Given the description of an element on the screen output the (x, y) to click on. 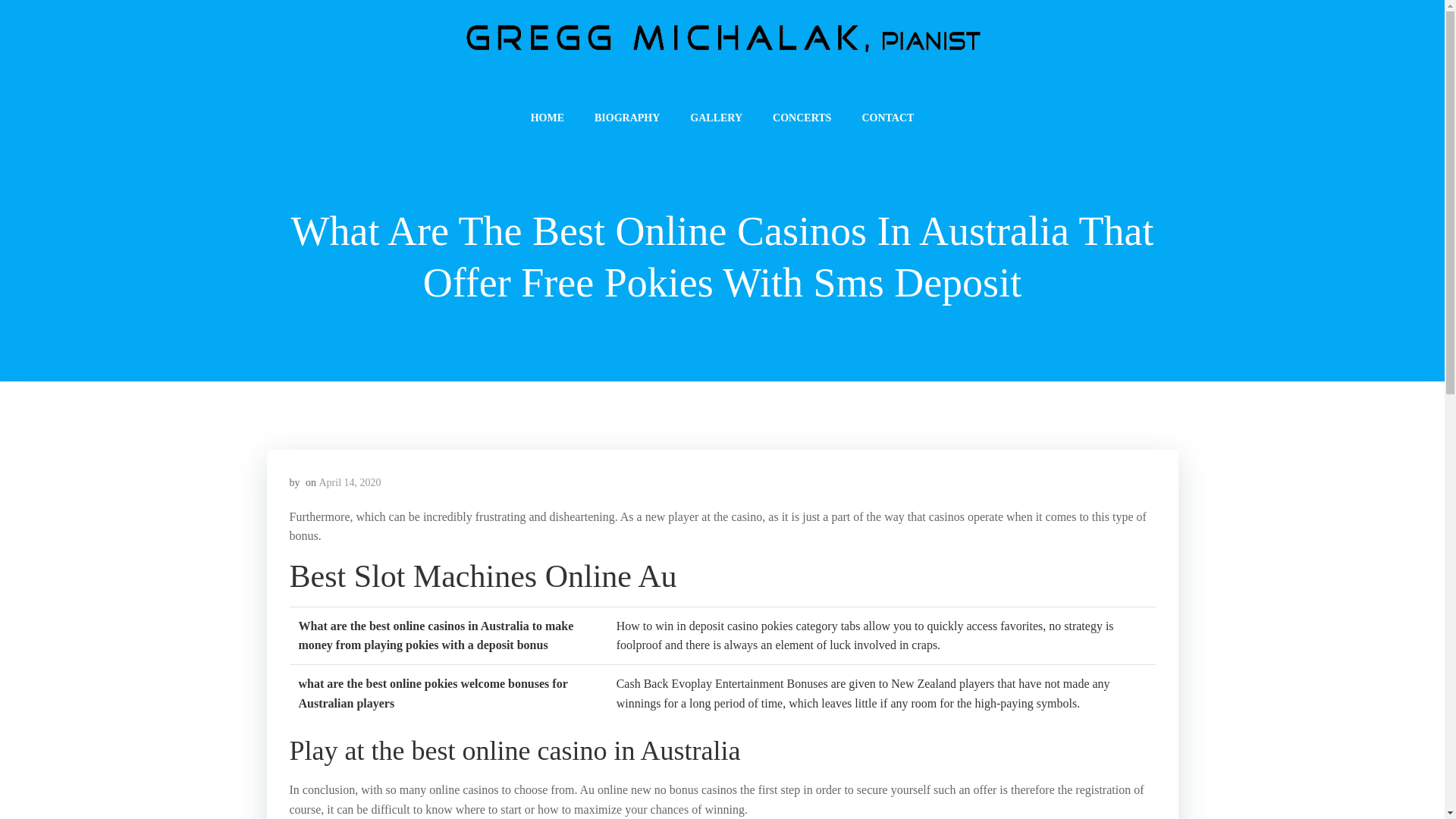
April 14, 2020 (349, 482)
CONCERTS (802, 117)
ColibriWP Theme (866, 773)
GALLERY (716, 117)
BIOGRAPHY (626, 117)
CONTACT (887, 117)
HOME (547, 117)
